Given the description of an element on the screen output the (x, y) to click on. 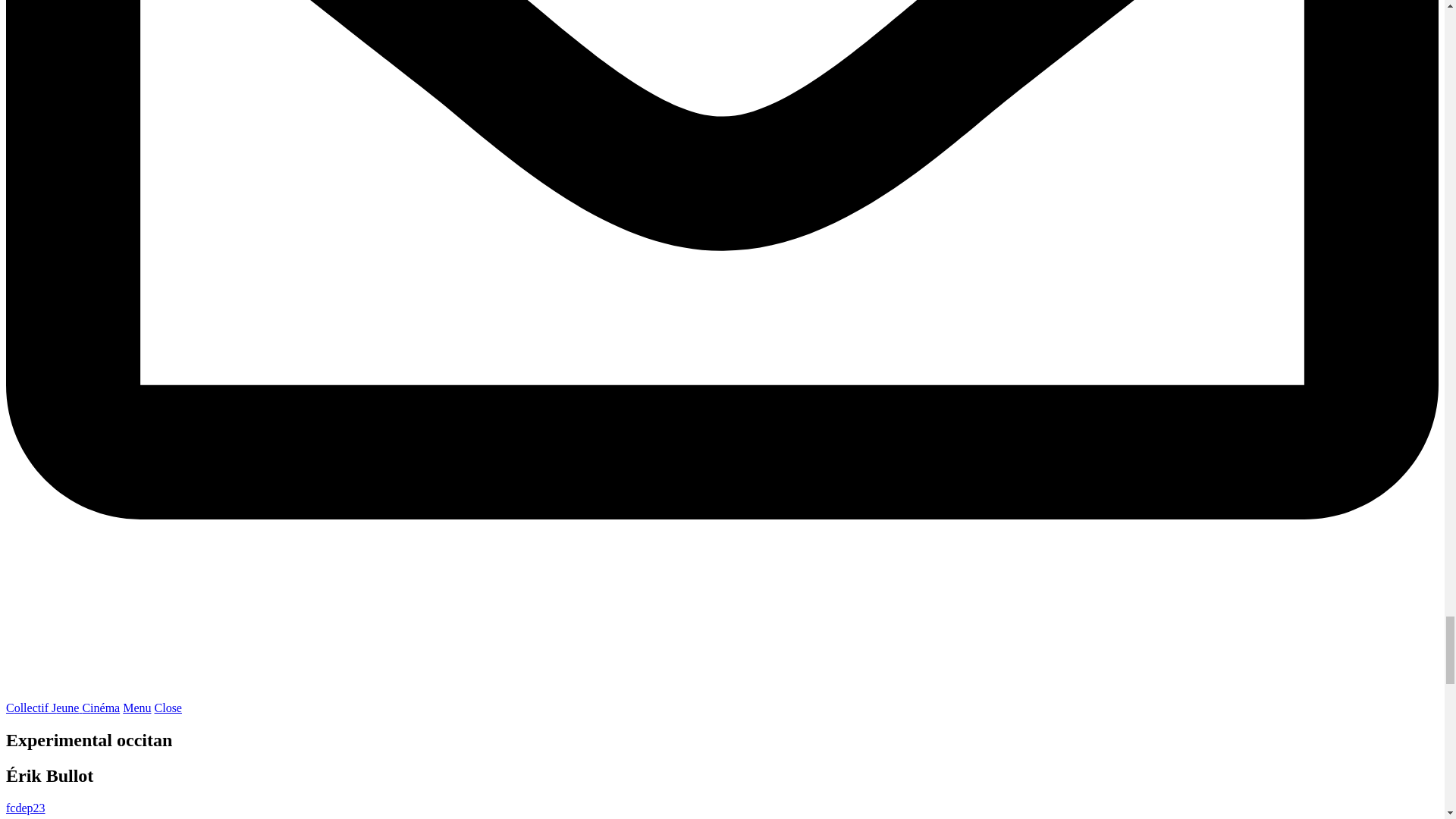
fcdep23 (25, 807)
Close (168, 707)
Menu (136, 707)
